Given the description of an element on the screen output the (x, y) to click on. 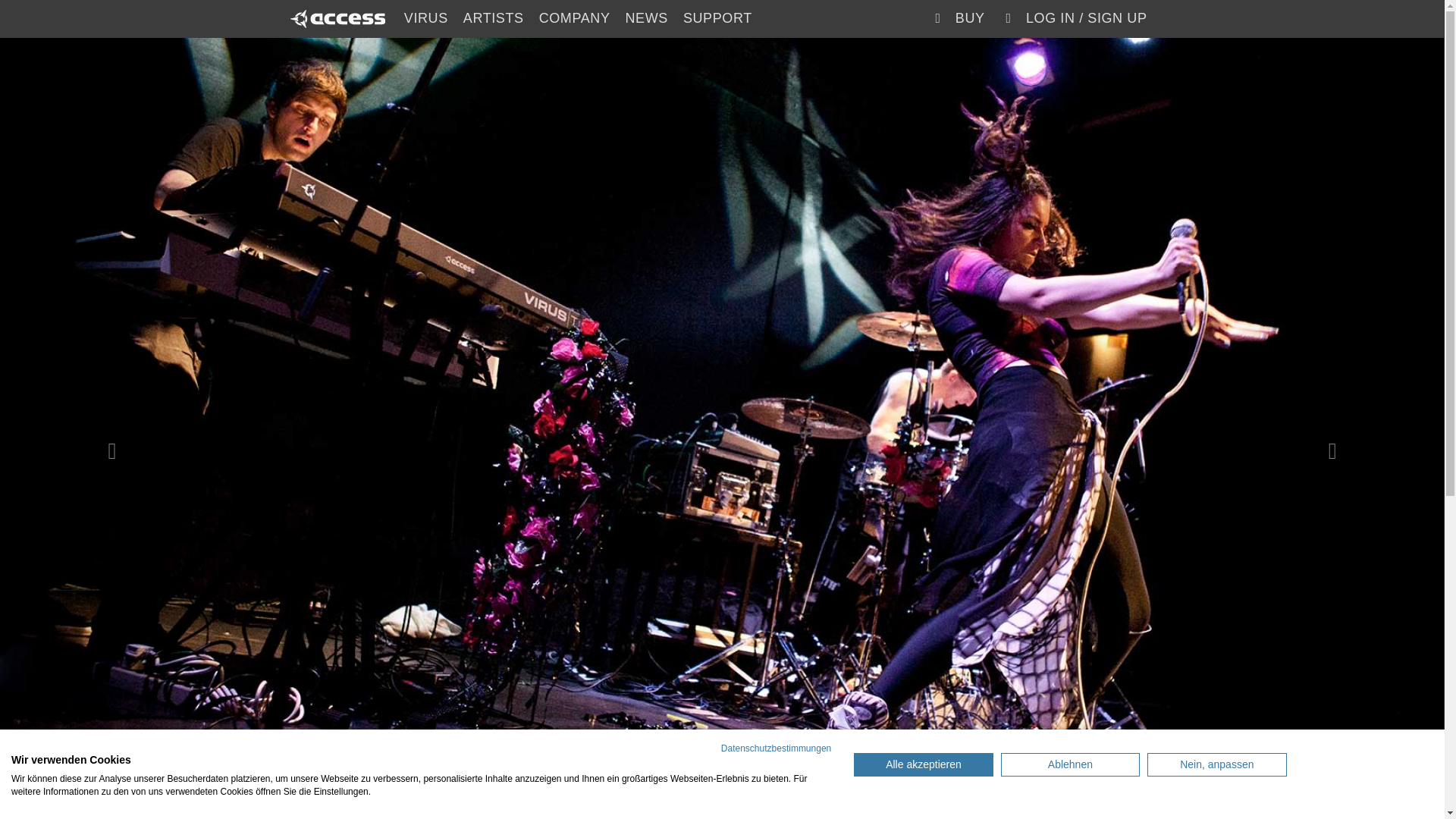
VIRUS (425, 18)
NEWS (646, 18)
SUPPORT (717, 18)
COMPANY (574, 18)
 BUY (956, 18)
ARTISTS (493, 18)
